Given the description of an element on the screen output the (x, y) to click on. 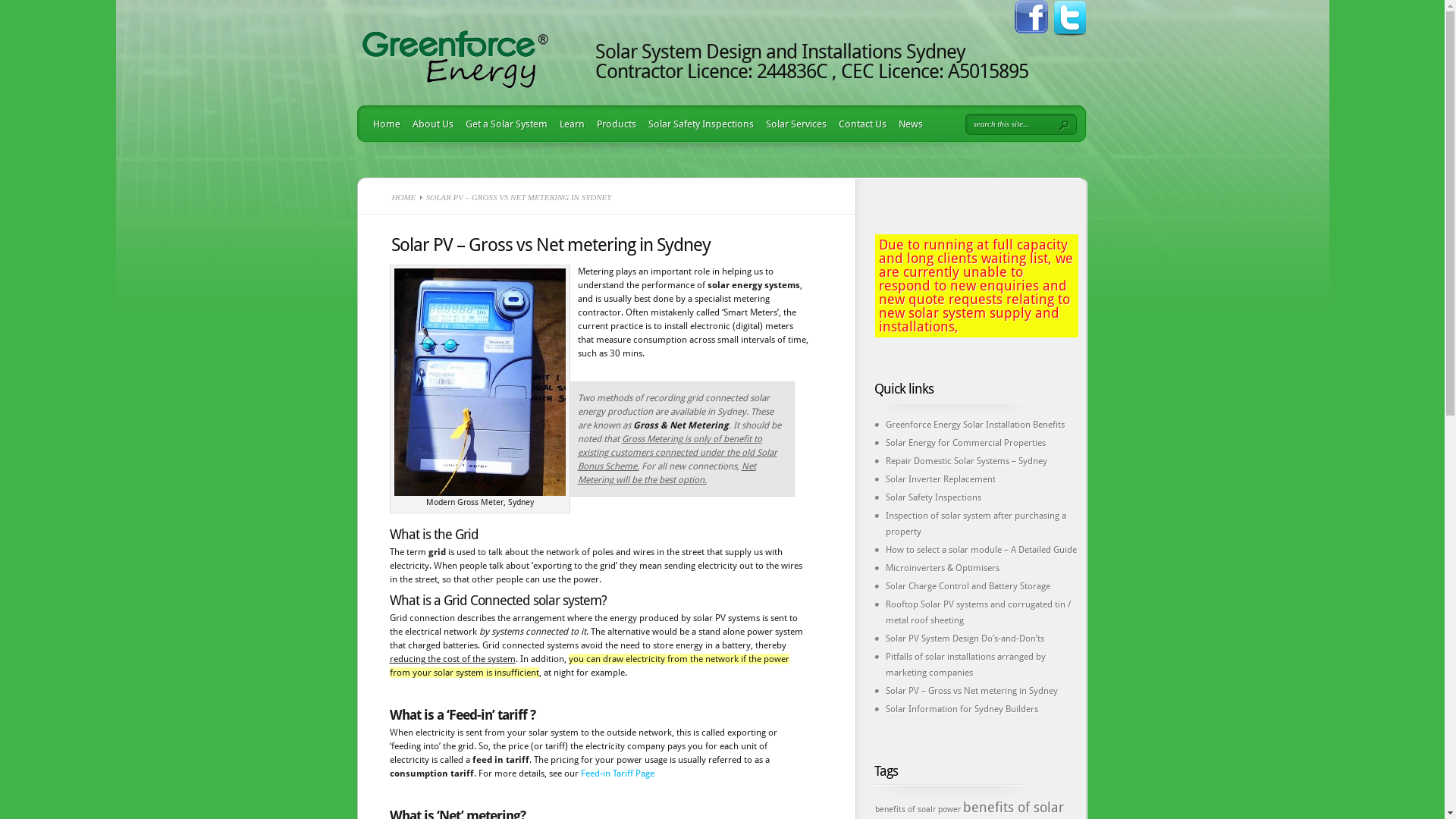
HOME Element type: text (403, 196)
benefits of soalr power Element type: text (917, 809)
Home Element type: text (383, 123)
Solar Energy for Commercial Properties Element type: text (965, 442)
solar-gross-meter-sydney Element type: hover (479, 381)
Products Element type: text (612, 123)
Solar Services Element type: text (792, 123)
Solar Charge Control and Battery Storage Element type: text (967, 585)
Get a Solar System Element type: text (503, 123)
News Element type: text (906, 123)
Solar Safety Inspections Element type: text (933, 497)
Inspection of solar system after purchasing a property Element type: text (975, 523)
About Us Element type: text (429, 123)
Solar Safety Inspections Element type: text (696, 123)
Greenforce Energy Solar Installation Benefits Element type: text (974, 424)
Feed-in Tariff Page Element type: text (617, 773)
Contact Us Element type: text (859, 123)
Solar Information for Sydney Builders Element type: text (961, 708)
Solar Inverter Replacement Element type: text (940, 478)
Learn Element type: text (568, 123)
Microinverters & Optimisers Element type: text (942, 567)
